Given the description of an element on the screen output the (x, y) to click on. 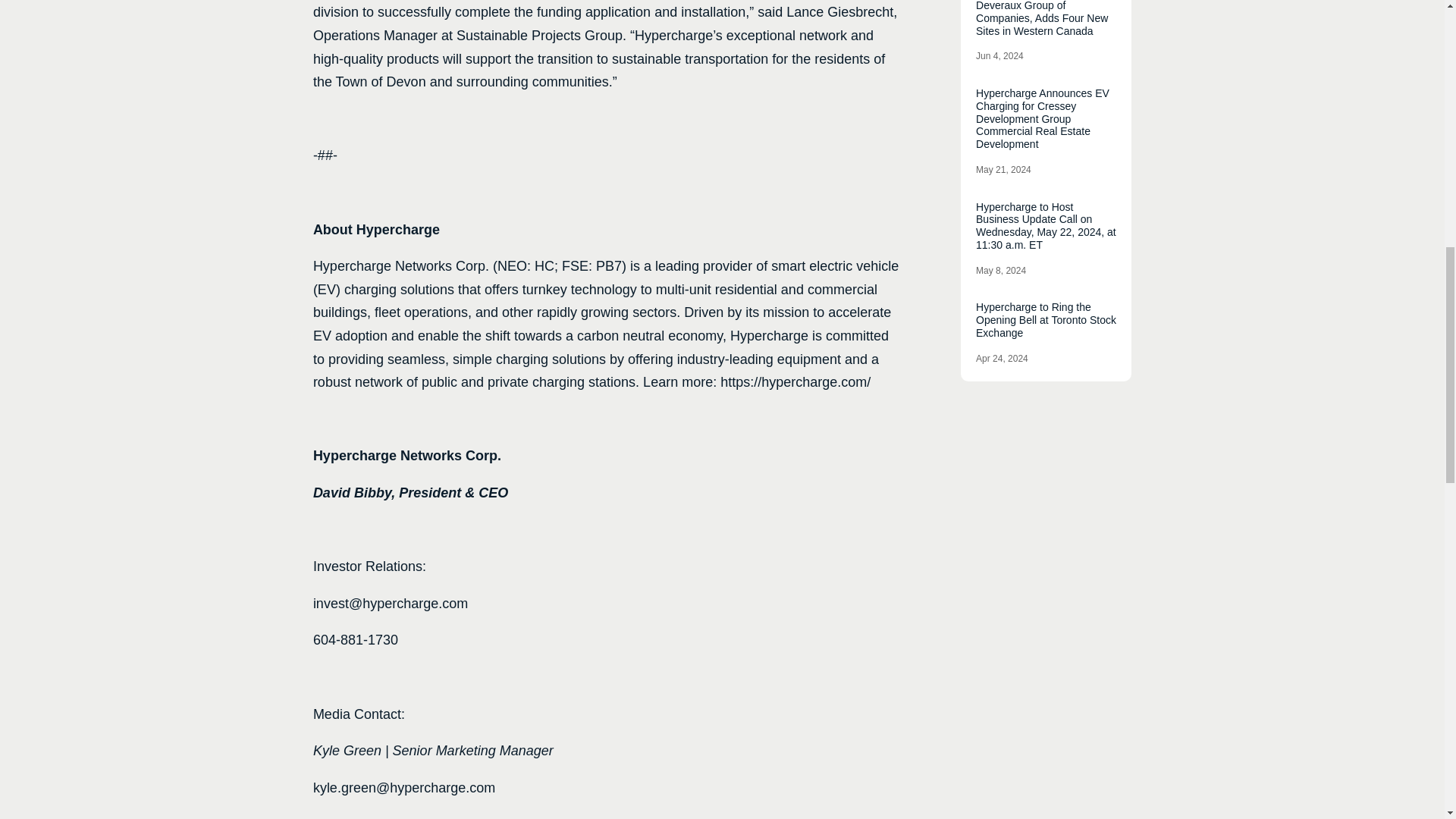
Hypercharge Networks Corp. (401, 265)
FSE: PB7 (591, 265)
NEO: HC (525, 265)
